Given the description of an element on the screen output the (x, y) to click on. 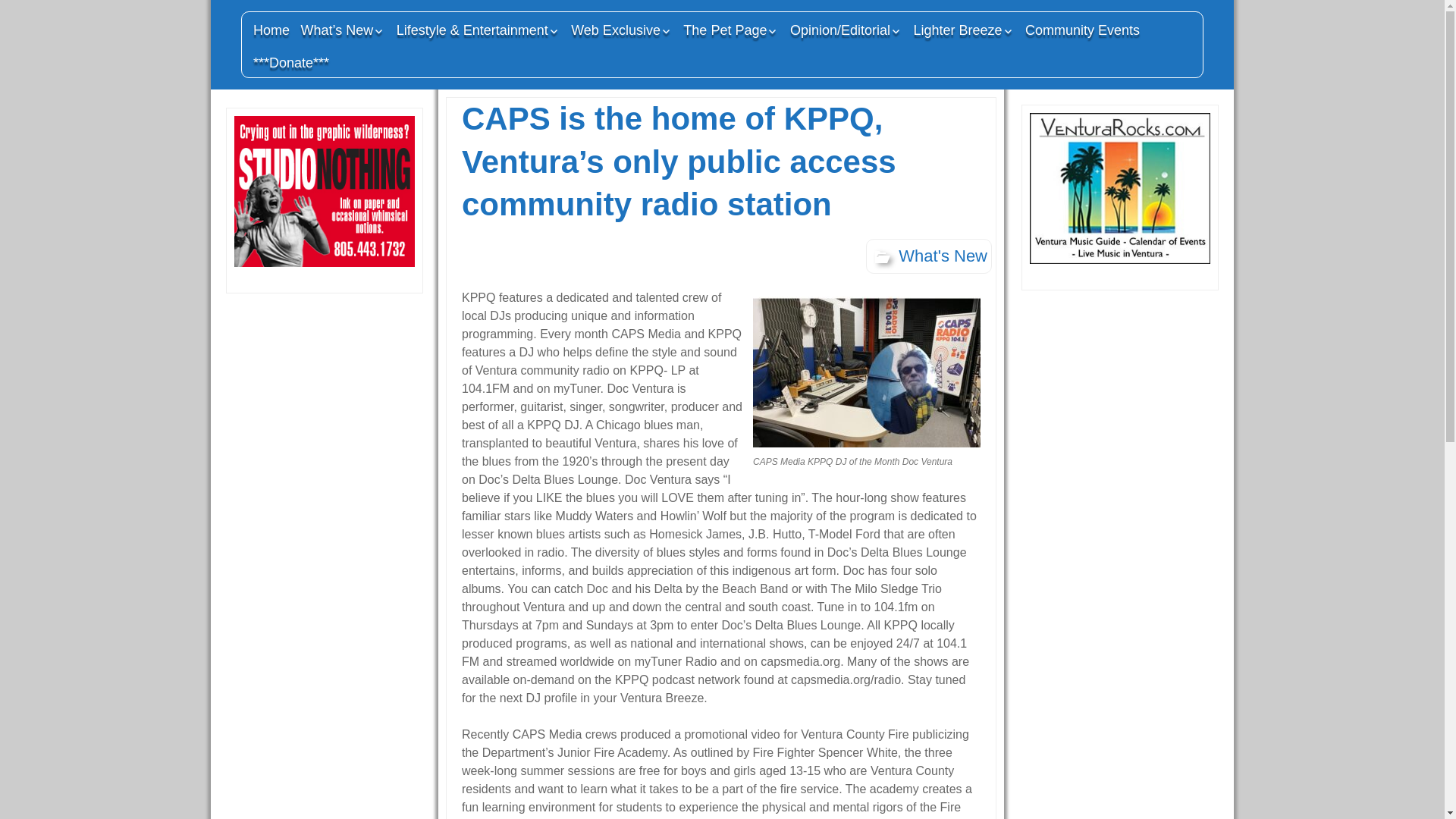
Horoscopes (985, 55)
Featured News (372, 55)
What's New (928, 256)
Recreation and Outdoors (643, 62)
Scamp Club (755, 55)
Home (271, 30)
The Pet Page (731, 30)
Mailbox (863, 55)
Lighter Breeze (962, 30)
Web Exclusive (622, 30)
Senior Living (468, 55)
Community Events (1082, 30)
